Given the description of an element on the screen output the (x, y) to click on. 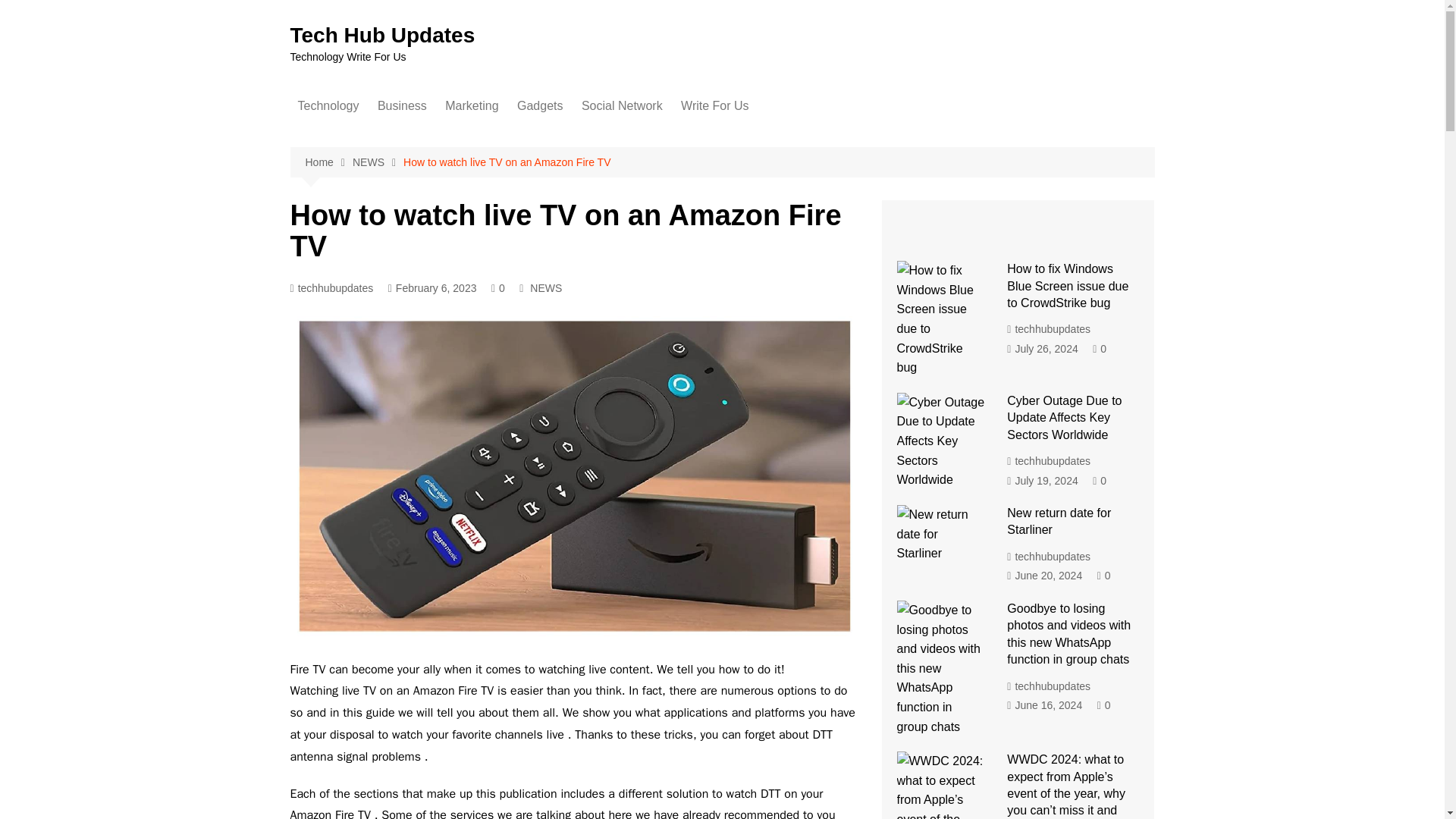
Home (328, 162)
techhubupdates (330, 288)
Gadgets (539, 105)
Technology (327, 105)
NEWS (377, 162)
Social Network (621, 105)
Tech Hub Updates (381, 34)
Business (401, 105)
NEWS (545, 288)
Marketing (471, 105)
Write For Us (713, 105)
How to watch live TV on an Amazon Fire TV (506, 161)
February 6, 2023 (432, 288)
